Given the description of an element on the screen output the (x, y) to click on. 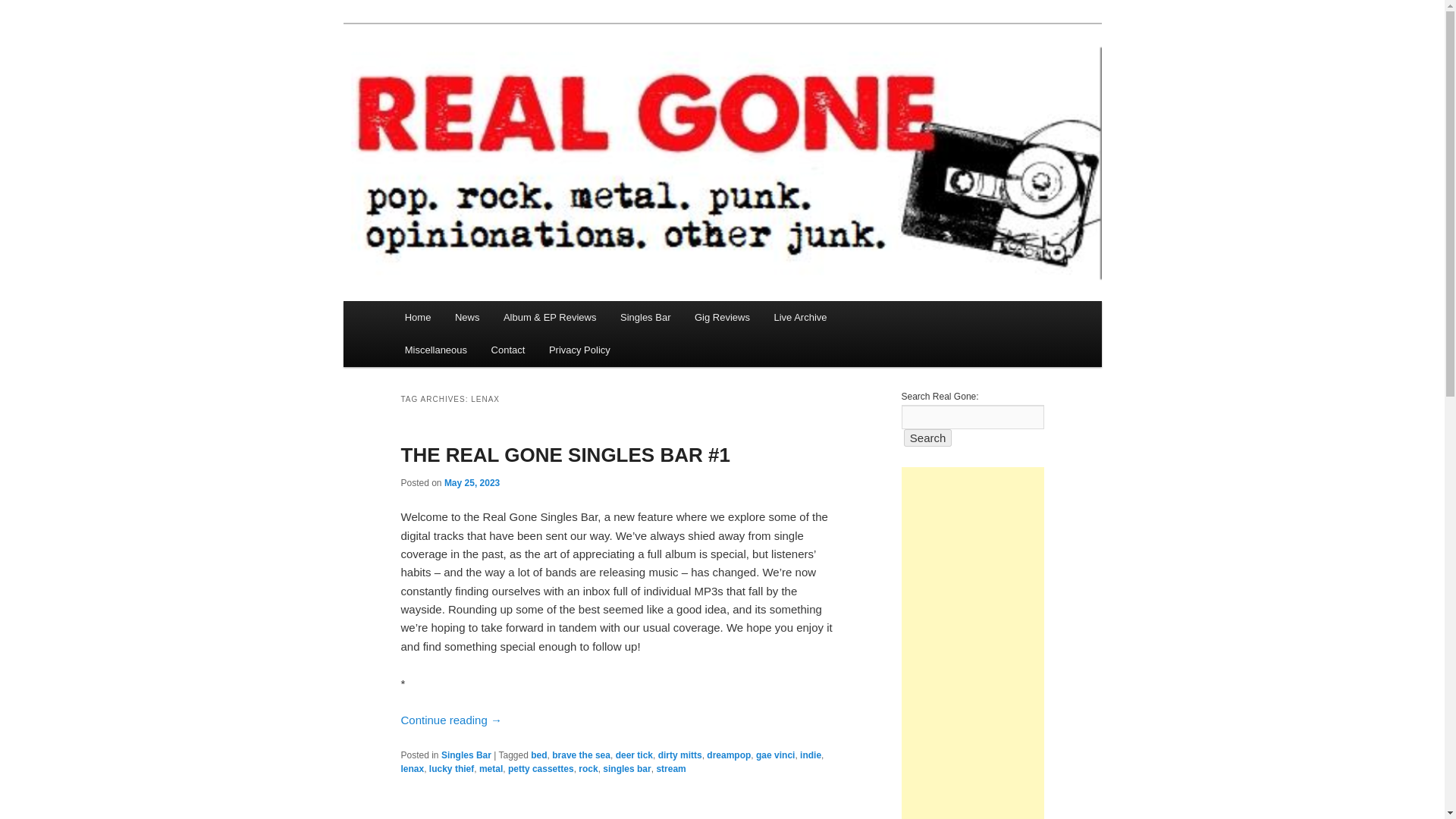
petty cassettes (540, 768)
Singles Bar (645, 317)
11:33 am (471, 482)
dreampop (728, 755)
Home (417, 317)
rock (587, 768)
bed (539, 755)
indie (810, 755)
deer tick (633, 755)
Miscellaneous (436, 349)
Singles Bar (466, 755)
gae vinci (774, 755)
May 25, 2023 (471, 482)
Contact (508, 349)
